Given the description of an element on the screen output the (x, y) to click on. 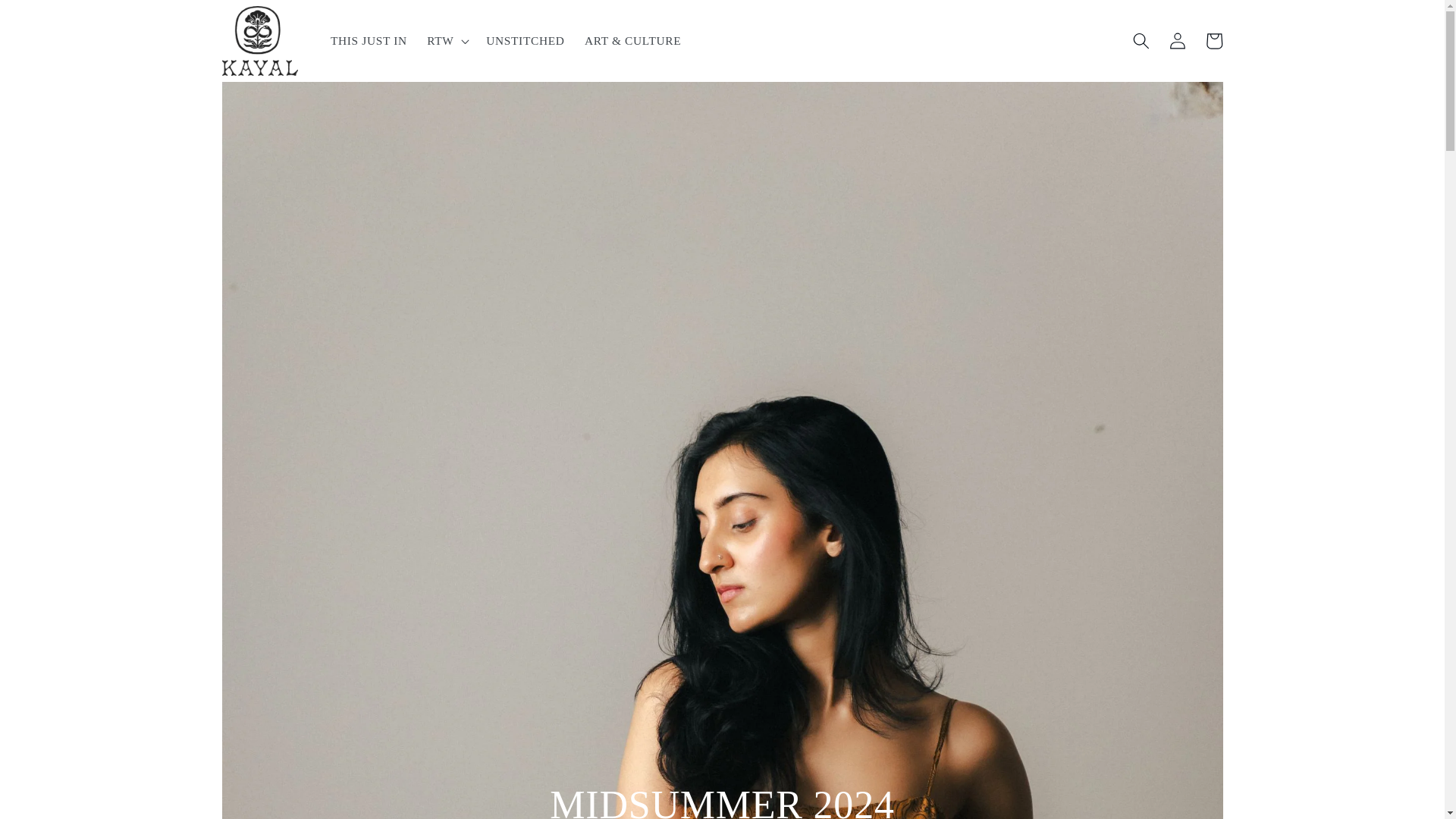
Skip to content (50, 19)
Cart (1213, 40)
UNSTITCHED (525, 40)
Log in (1176, 40)
THIS JUST IN (368, 40)
